Given the description of an element on the screen output the (x, y) to click on. 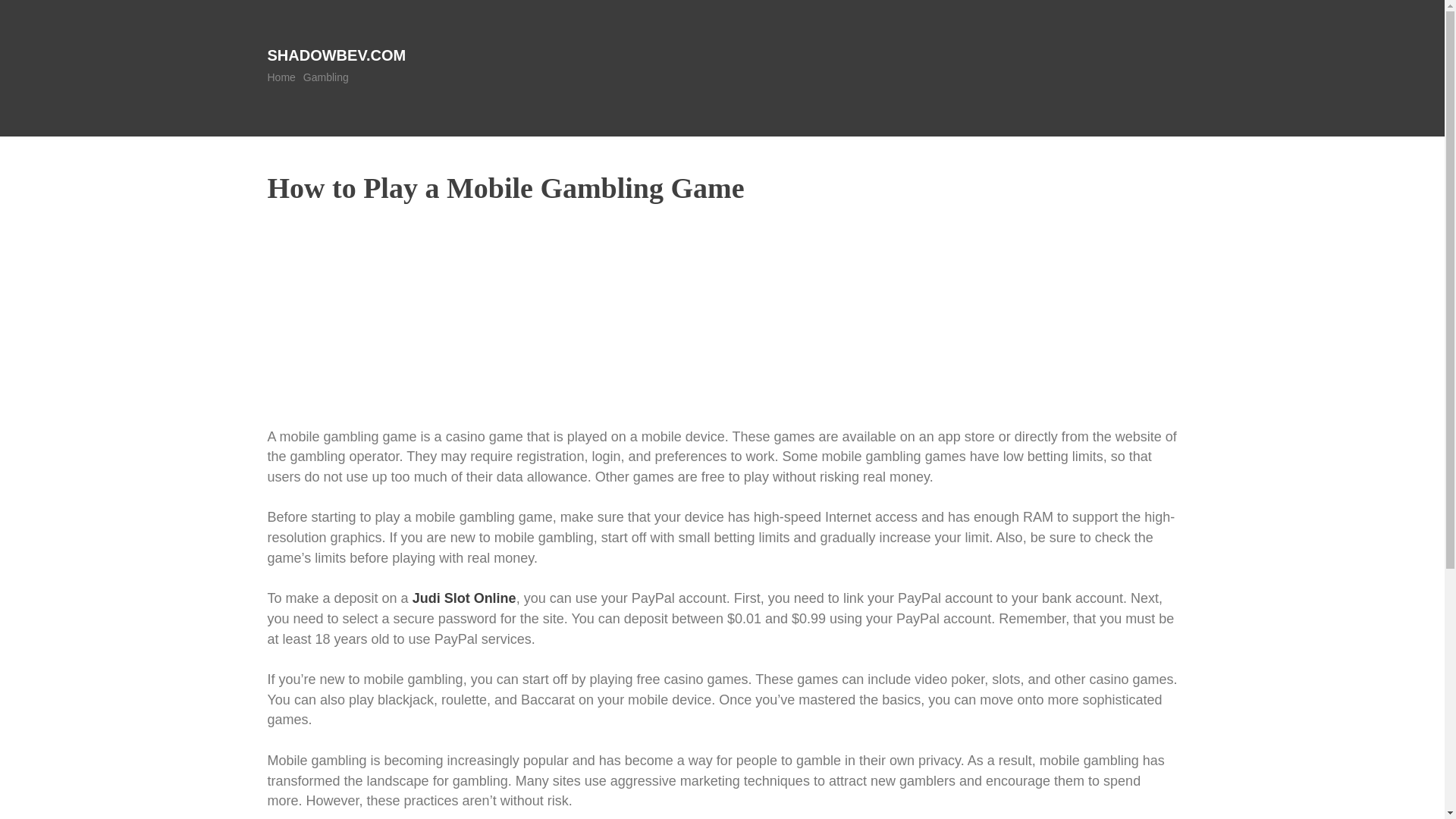
Home (280, 77)
SHADOWBEV.COM (336, 54)
Gambling (325, 77)
Shadowbev.com (336, 54)
Judi Slot Online (464, 598)
